Given the description of an element on the screen output the (x, y) to click on. 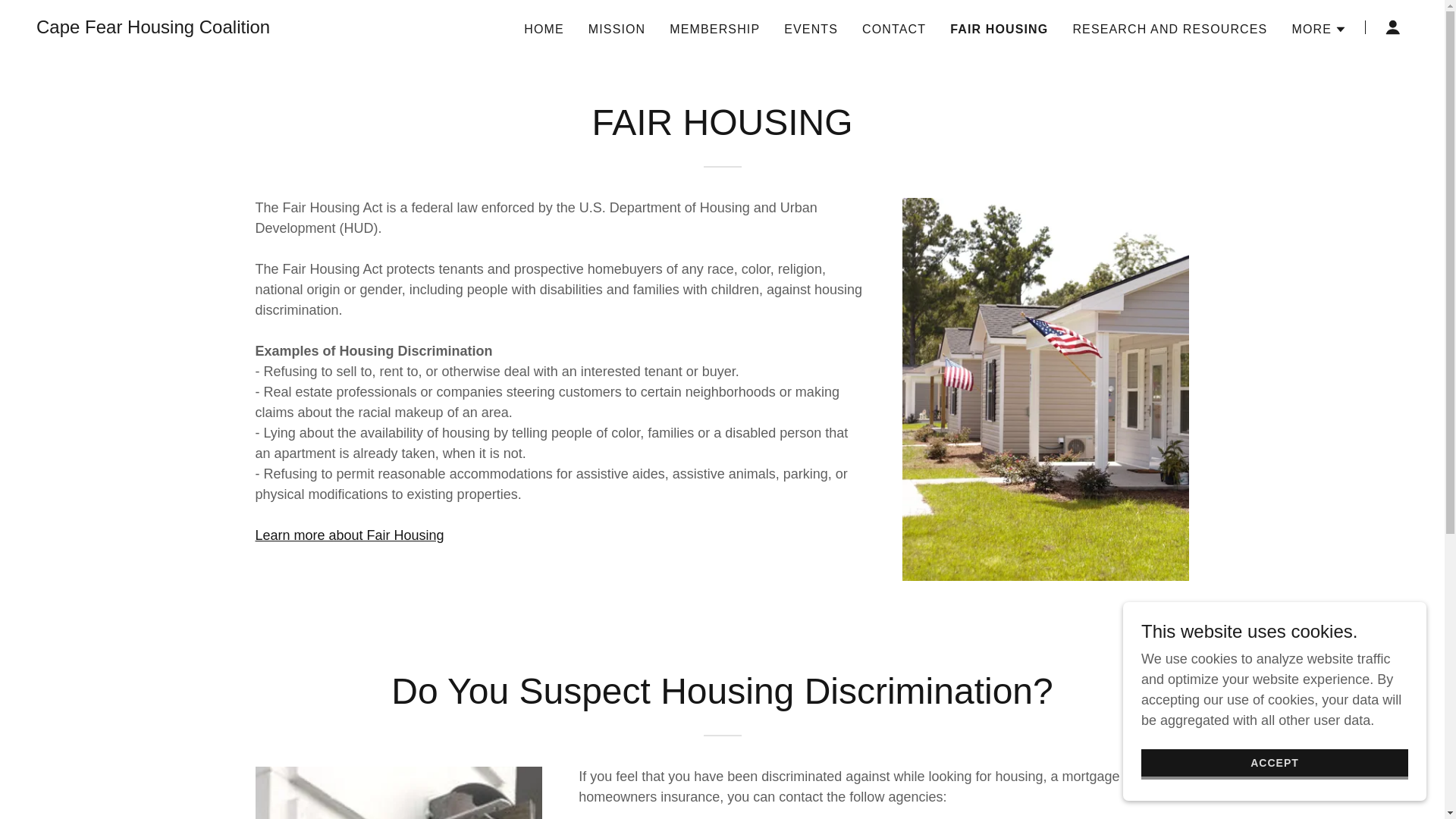
RESEARCH AND RESOURCES (1169, 28)
MEMBERSHIP (714, 28)
Cape Fear Housing Coalition (152, 28)
CONTACT (893, 28)
FAIR HOUSING (999, 28)
MORE (1318, 28)
Cape Fear Housing Coalition (152, 28)
HOME (544, 28)
MISSION (616, 28)
EVENTS (810, 28)
